Given the description of an element on the screen output the (x, y) to click on. 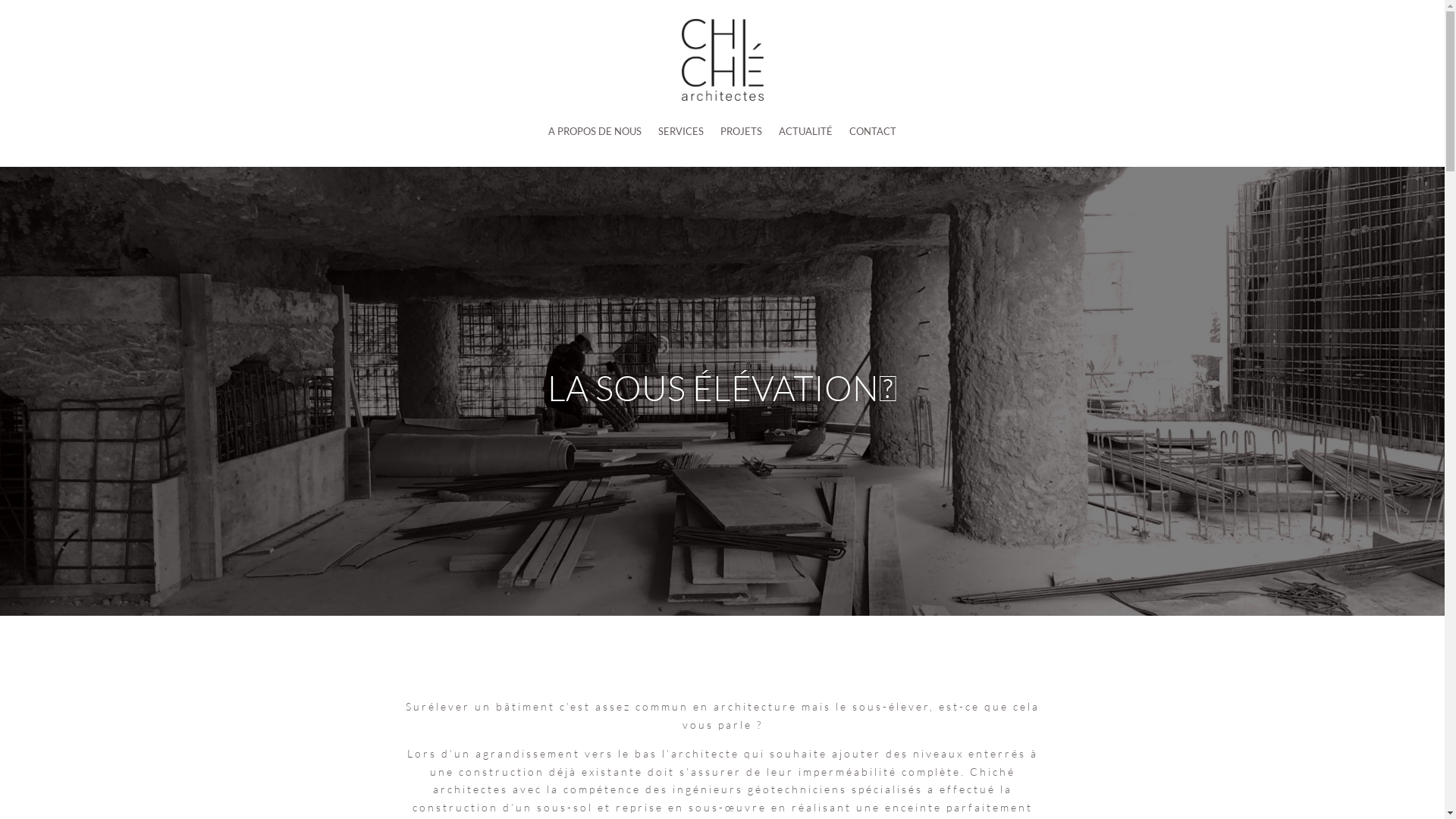
PROJETS Element type: text (741, 131)
SERVICES Element type: text (680, 131)
CONTACT Element type: text (872, 131)
A PROPOS DE NOUS Element type: text (594, 131)
